Given the description of an element on the screen output the (x, y) to click on. 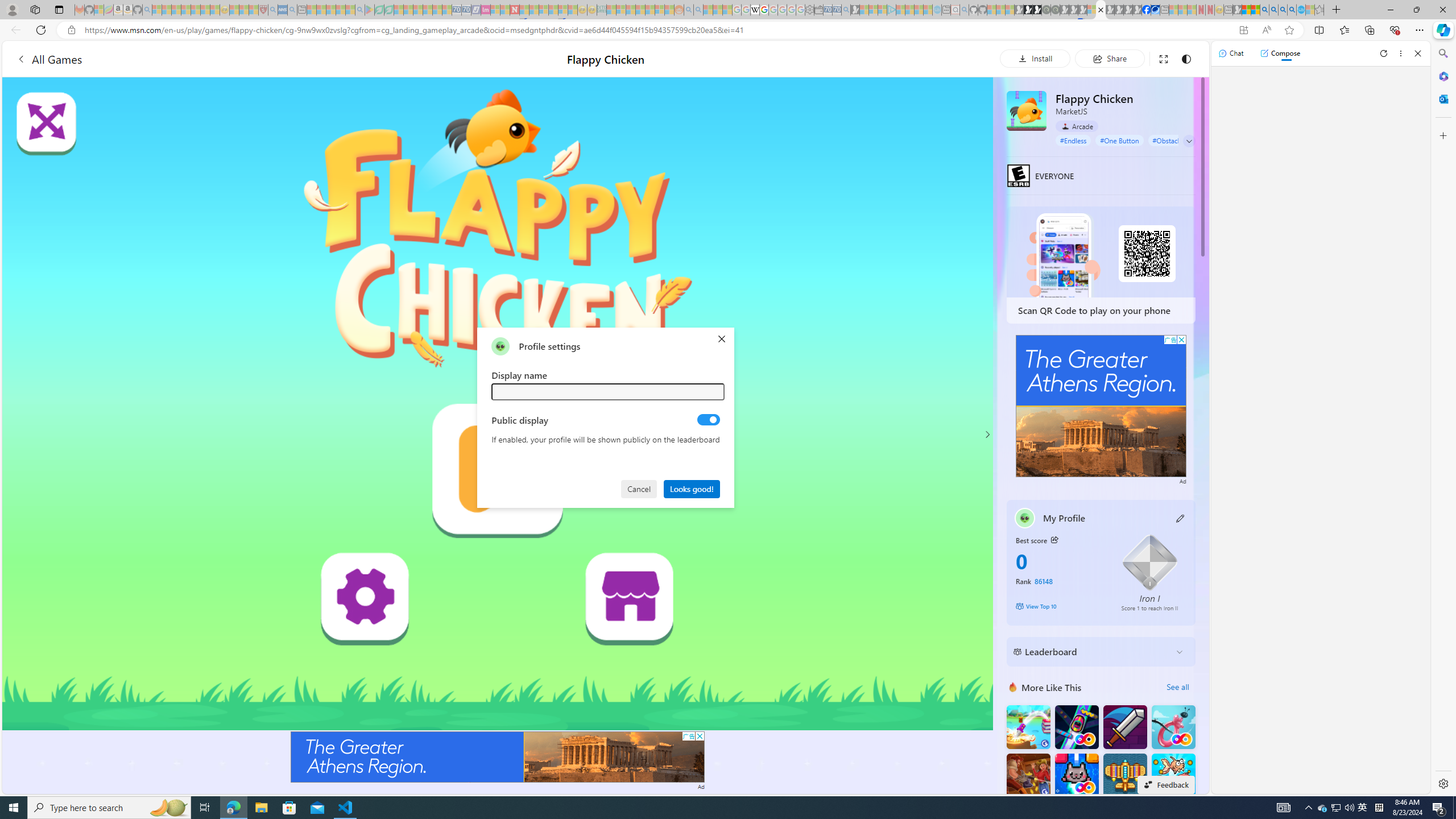
Services - Maintenance | Sky Blue Bikes - Sky Blue Bikes (1300, 9)
Atlantic Sky Hunter (1124, 775)
